Given the description of an element on the screen output the (x, y) to click on. 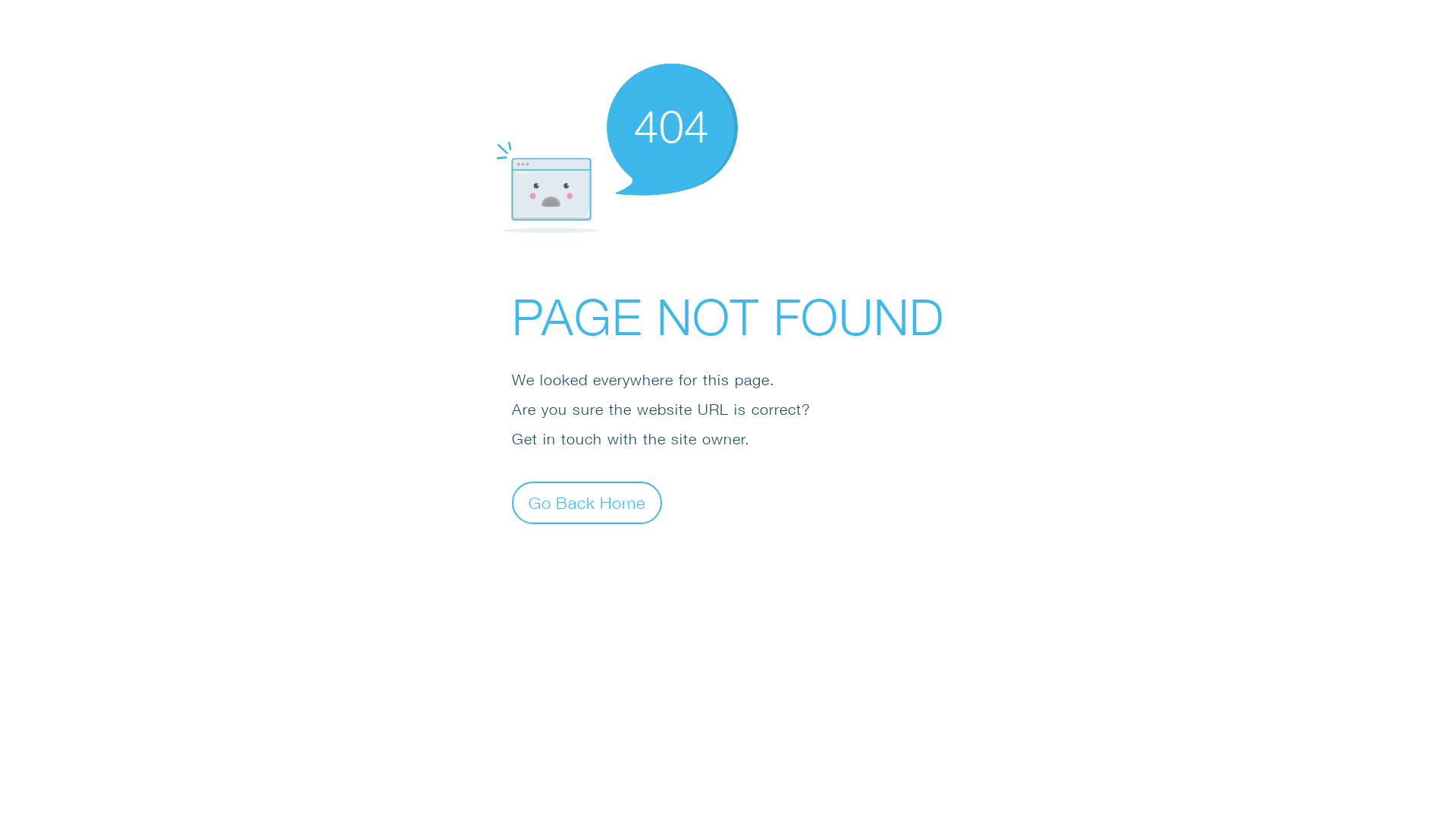
Go Back Home Element type: text (586, 502)
